Given the description of an element on the screen output the (x, y) to click on. 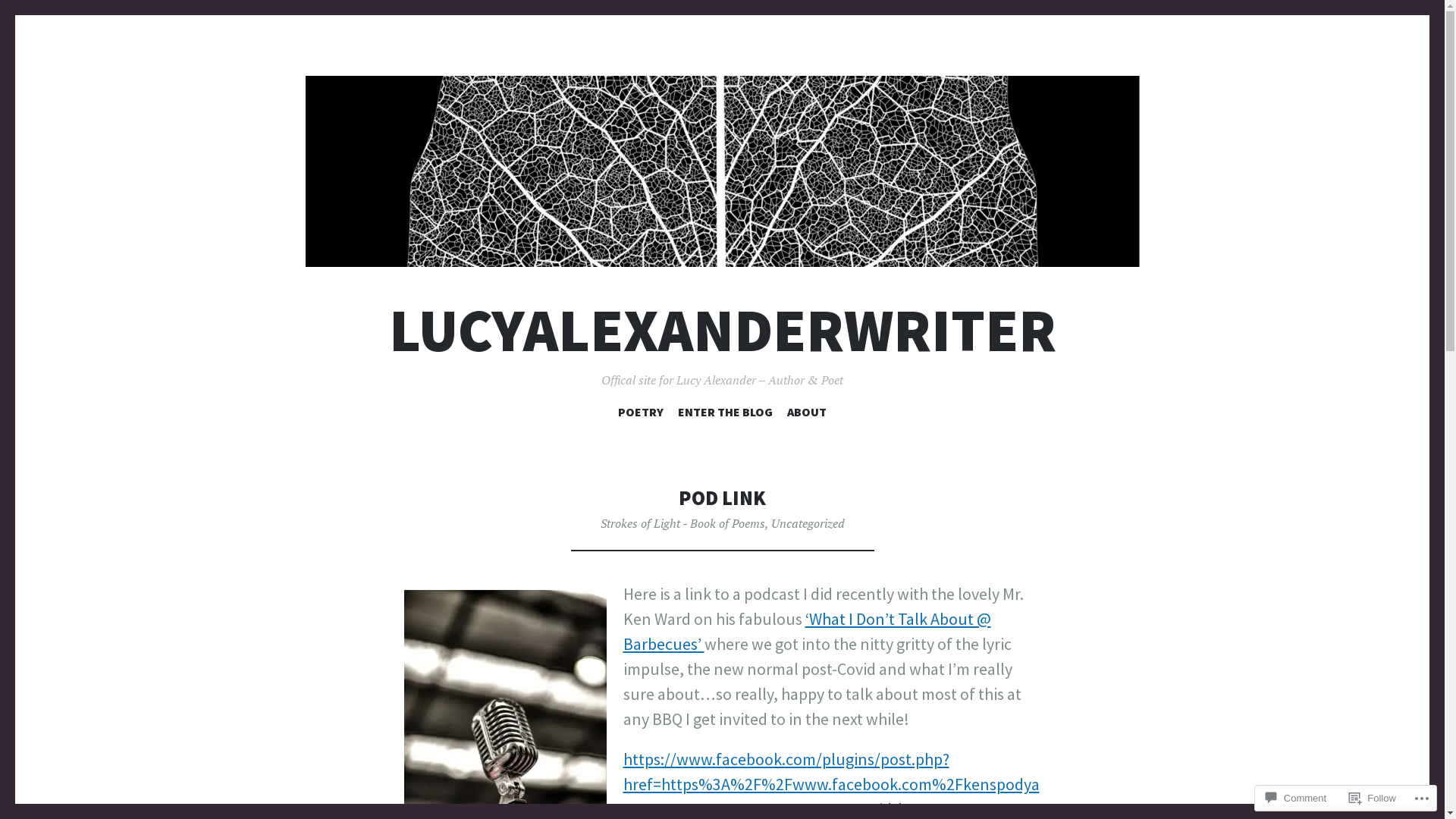
Comment Element type: text (1295, 797)
POETRY Element type: text (640, 414)
LucyAlexanderWriter Element type: hover (721, 170)
LUCYALEXANDERWRITER Element type: text (721, 330)
ABOUT Element type: text (806, 414)
Follow Element type: text (1372, 797)
Uncategorized Element type: text (807, 522)
Strokes of Light - Book of Poems Element type: text (682, 522)
ENTER THE BLOG Element type: text (724, 414)
